Given the description of an element on the screen output the (x, y) to click on. 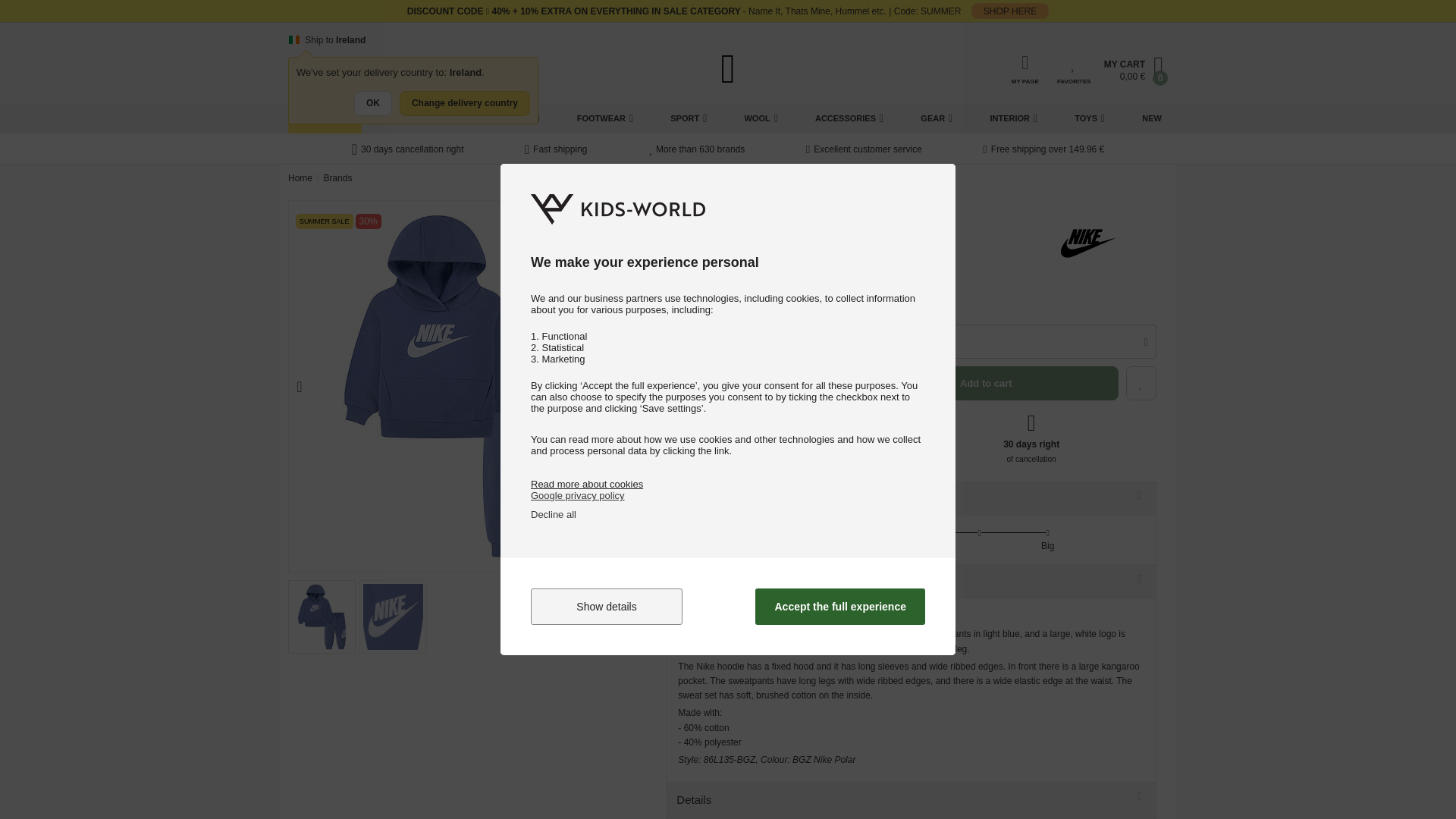
Google privacy policy (577, 495)
Accept the full experience (839, 606)
Show details (606, 606)
Decline all (553, 514)
1 (687, 341)
Read more about cookies (587, 483)
